Given the description of an element on the screen output the (x, y) to click on. 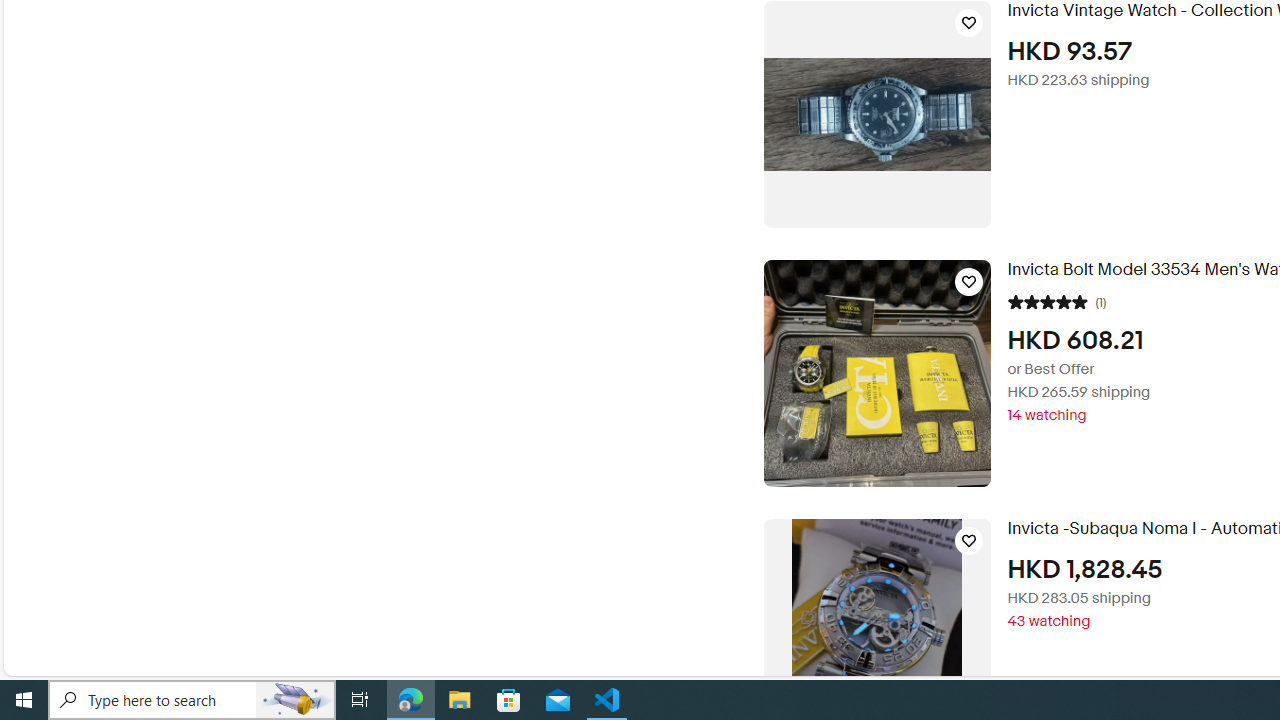
5 out of 5 stars (1047, 300)
